Given the description of an element on the screen output the (x, y) to click on. 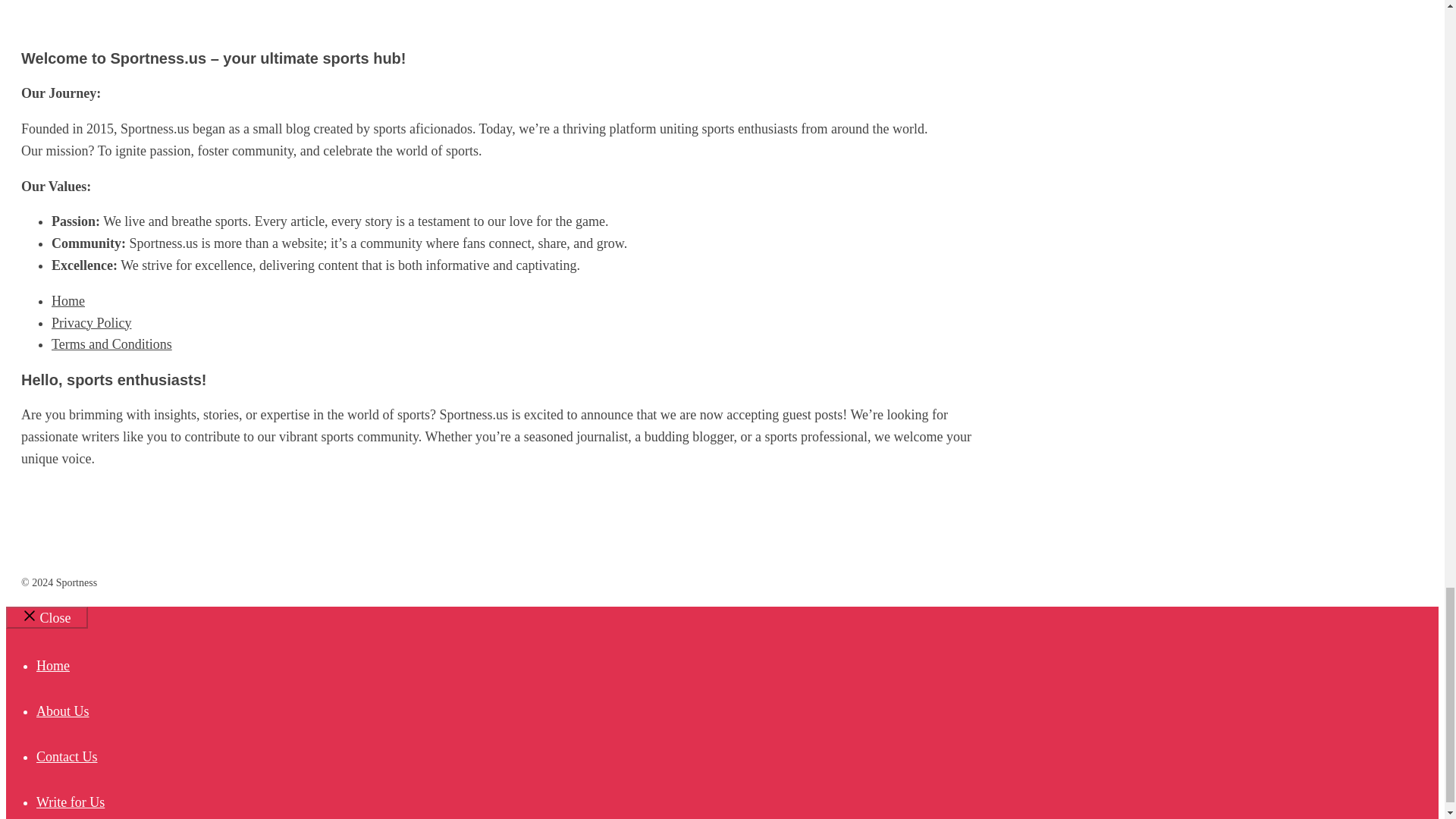
About Us (62, 711)
Close (46, 617)
Write for Us (70, 801)
Contact Us (66, 756)
Privacy Policy (91, 322)
Home (52, 665)
Home (67, 300)
Terms and Conditions (110, 344)
